Given the description of an element on the screen output the (x, y) to click on. 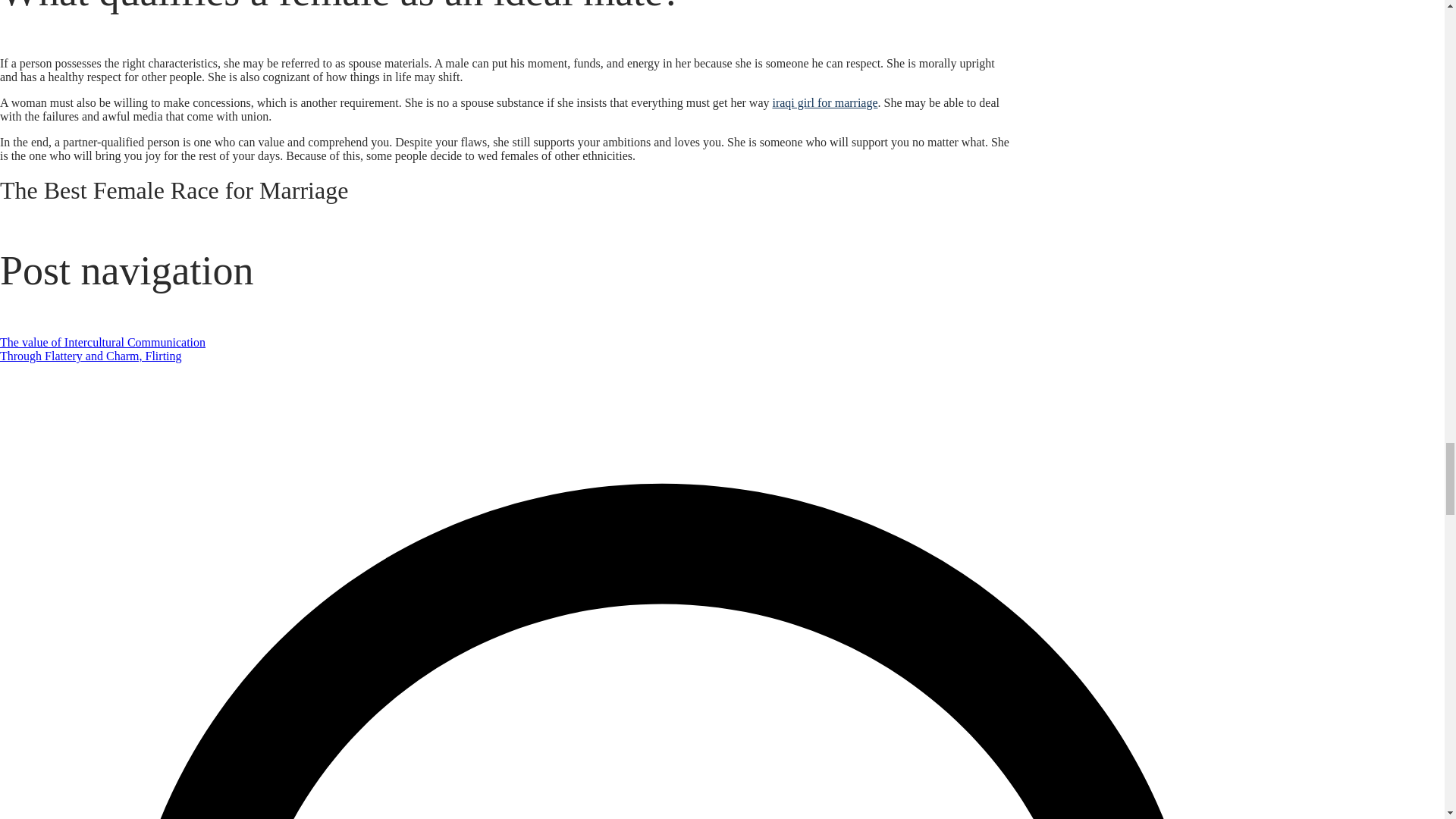
iraqi girl for marriage (824, 102)
The value of Intercultural Communication (102, 341)
Through Flattery and Charm, Flirting (91, 355)
